Given the description of an element on the screen output the (x, y) to click on. 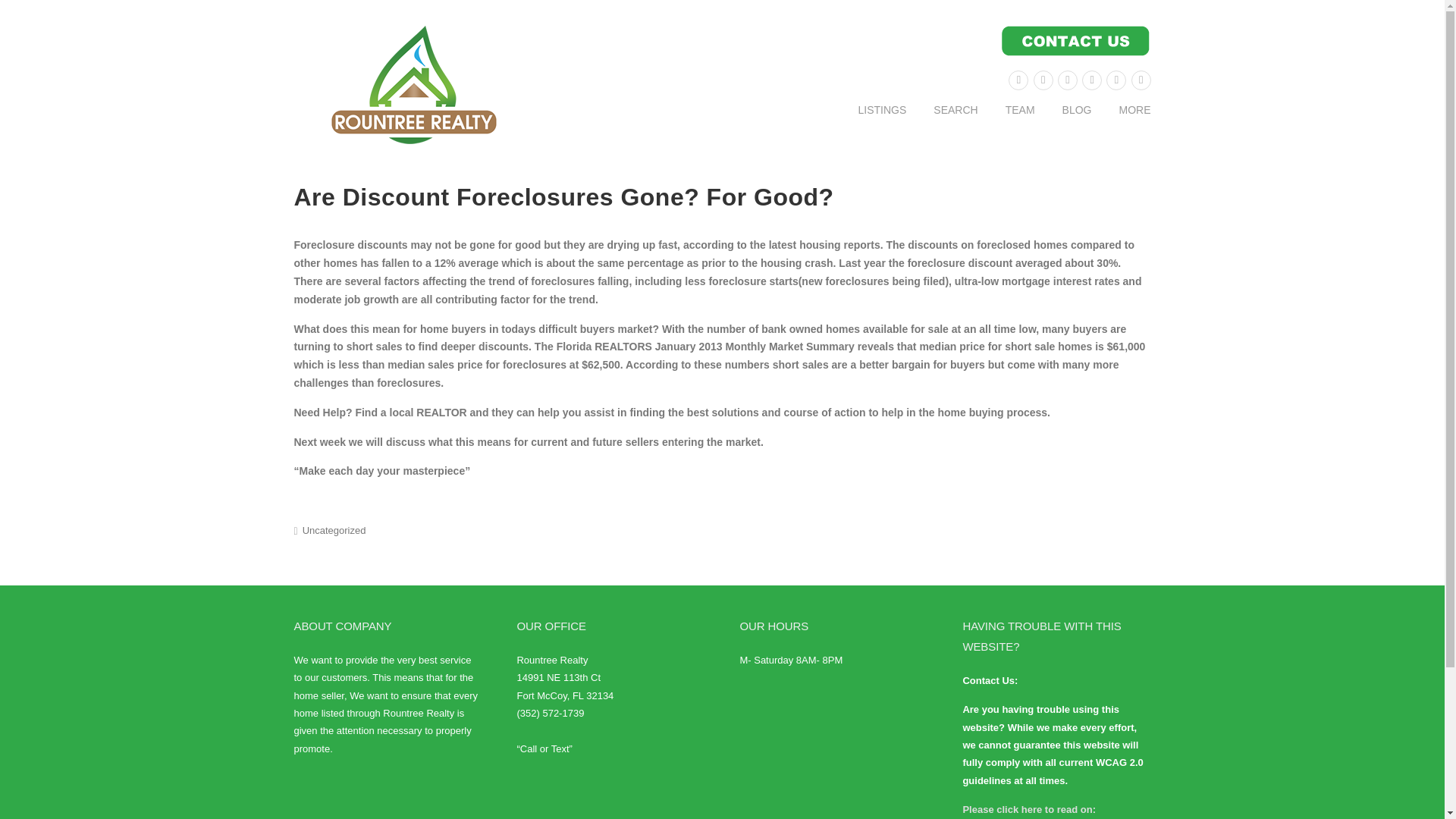
Twitter (1018, 80)
Instagram (1115, 80)
ROUNTREE REALTY (415, 86)
LISTINGS (882, 121)
Uncategorized (334, 530)
TEAM (1019, 121)
MORE (1128, 121)
Please click here to read on: (1029, 808)
SEARCH (955, 121)
BLOG (1076, 121)
Google Plus (1091, 80)
contact information available by clicking here (997, 40)
Youtube (1141, 80)
Pinterest (1067, 80)
Facebook (1042, 80)
